Given the description of an element on the screen output the (x, y) to click on. 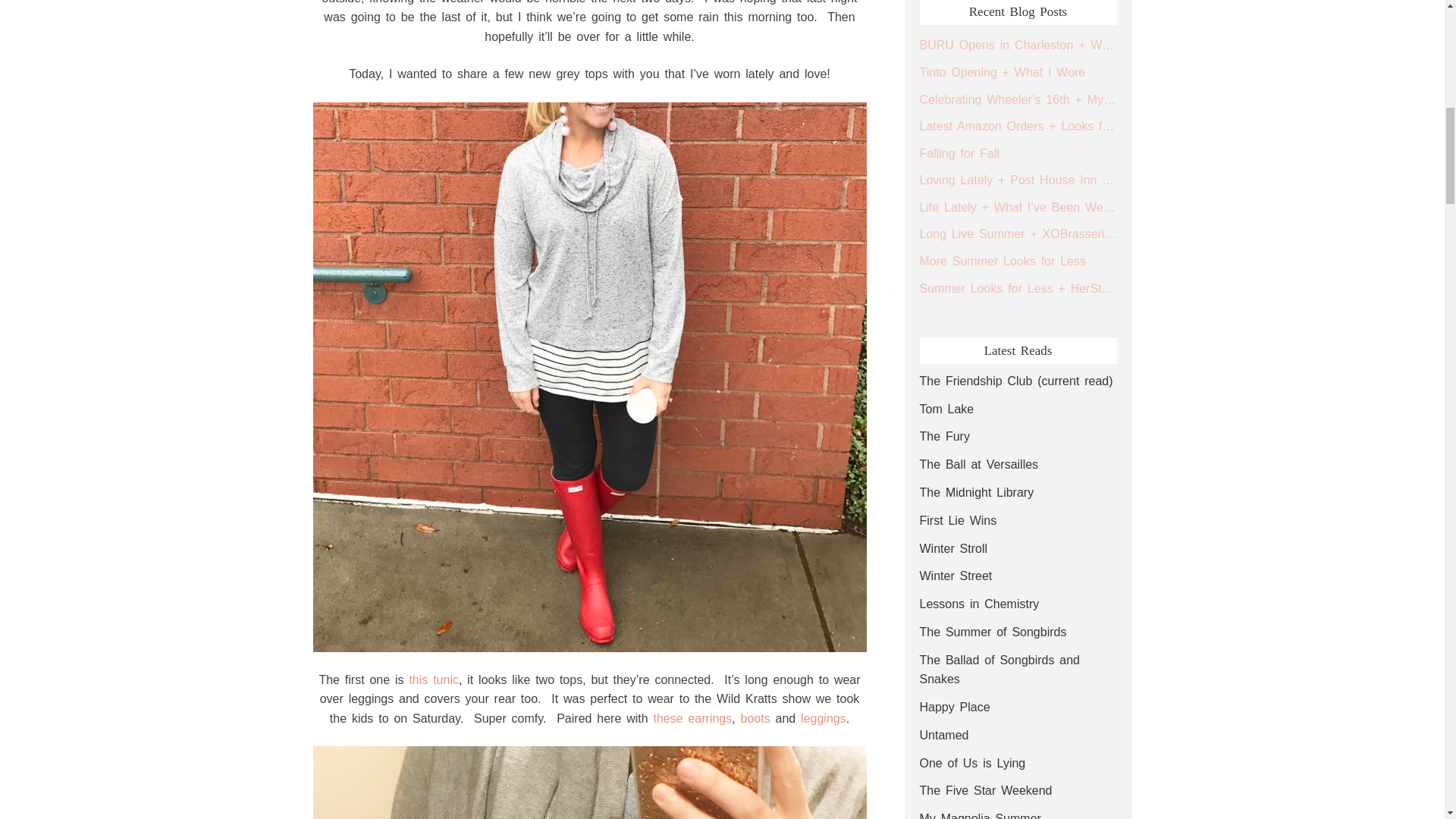
boots (755, 717)
this tunic (433, 679)
leggings (819, 717)
these earrings (692, 717)
